Given the description of an element on the screen output the (x, y) to click on. 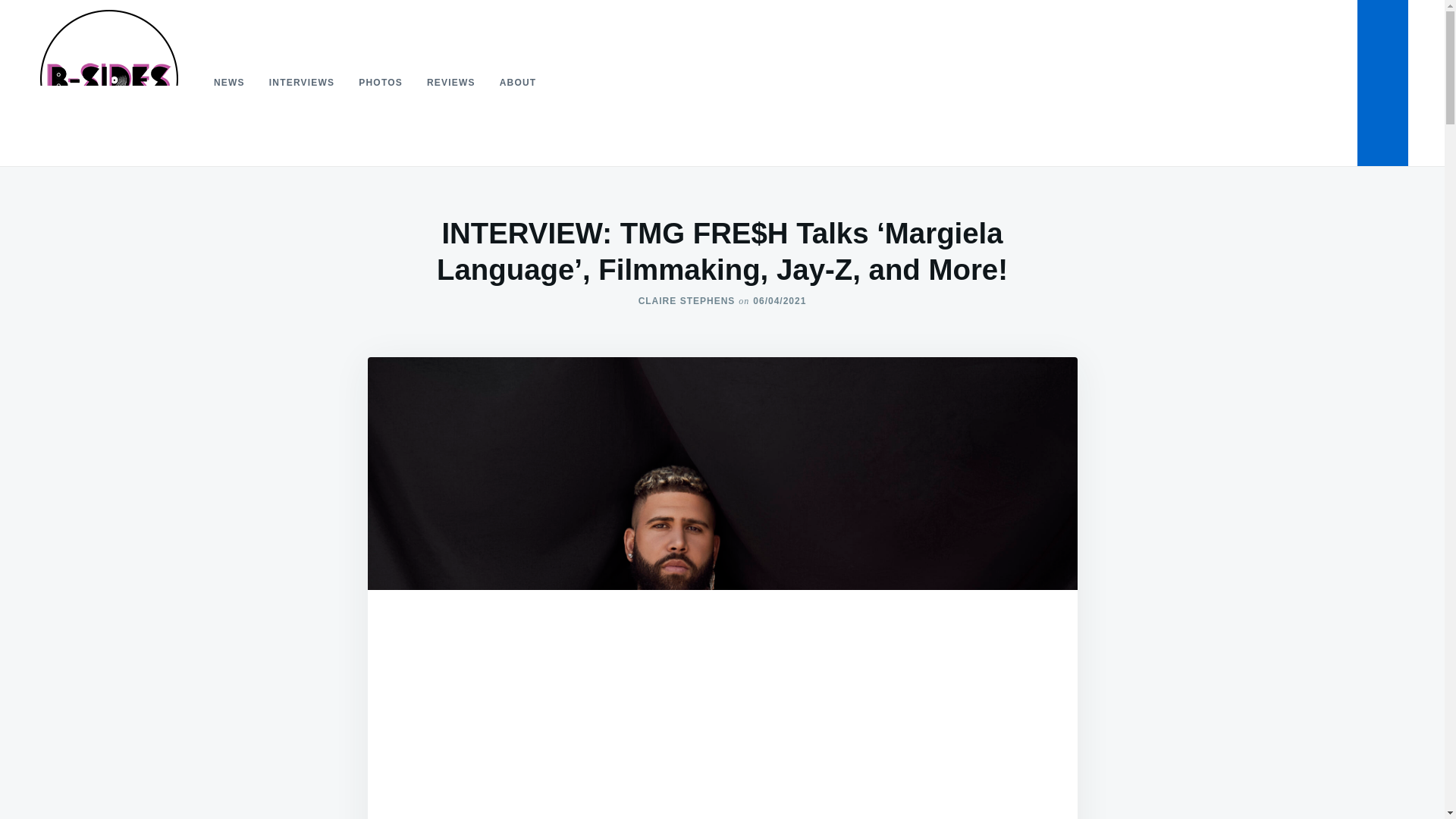
PHOTOS (380, 82)
REVIEWS (450, 82)
INTERVIEWS (301, 82)
NEWS (229, 82)
B-Sides (69, 170)
ABOUT (517, 82)
CLAIRE STEPHENS (687, 300)
